Given the description of an element on the screen output the (x, y) to click on. 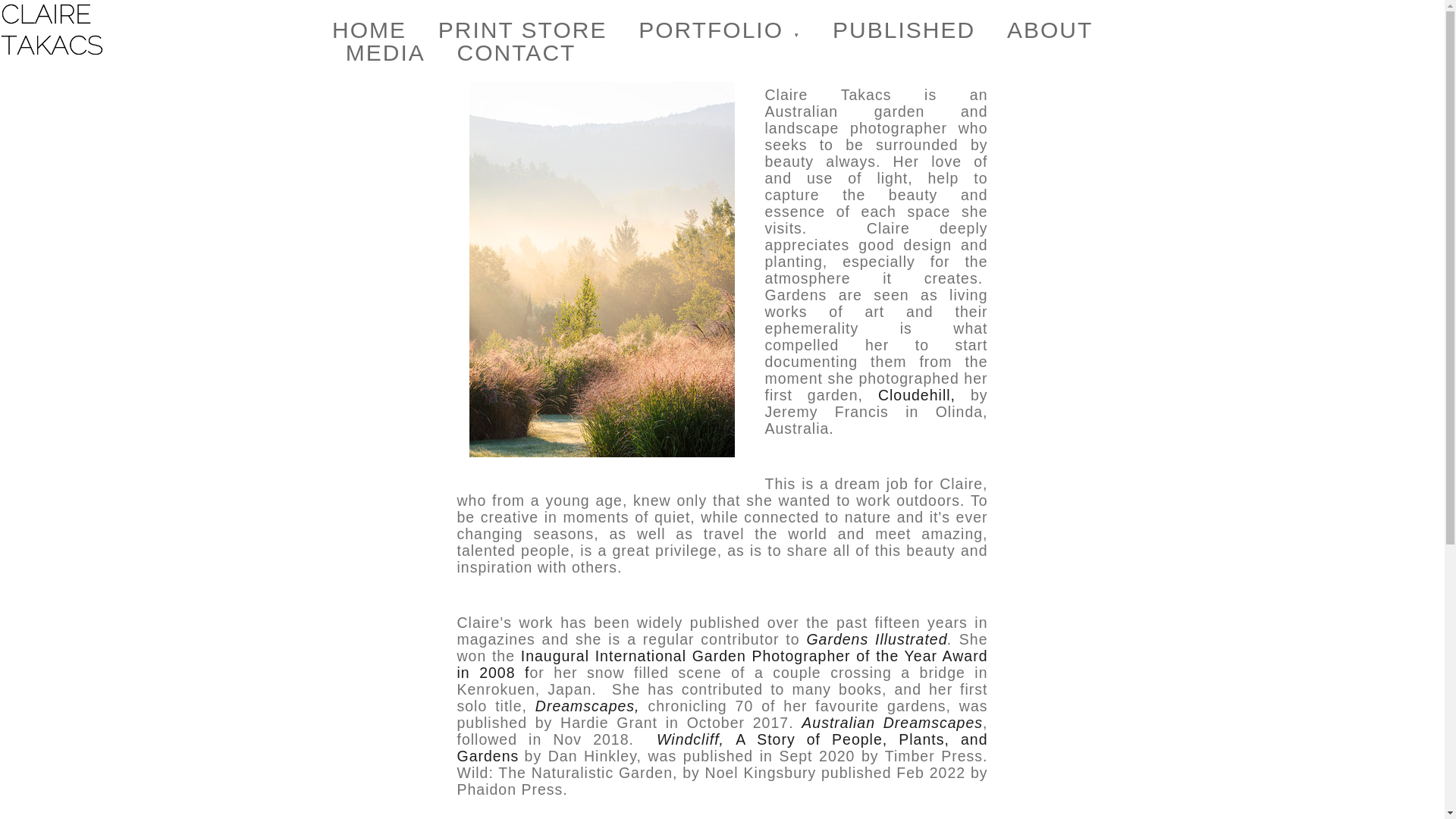
 Windcliff,  (690, 739)
PRINT STORE (522, 29)
HOME (368, 29)
MEDIA (384, 52)
Cloudehill, (916, 394)
Claire Takacs (51, 30)
CONTACT (516, 52)
PUBLISHED (904, 29)
Dreamscapes, (587, 705)
A Story of People, Plants, and Gardens (722, 748)
Australian Dreamscapes (892, 722)
Gardens Illustrated (876, 638)
ABOUT (1049, 29)
